Given the description of an element on the screen output the (x, y) to click on. 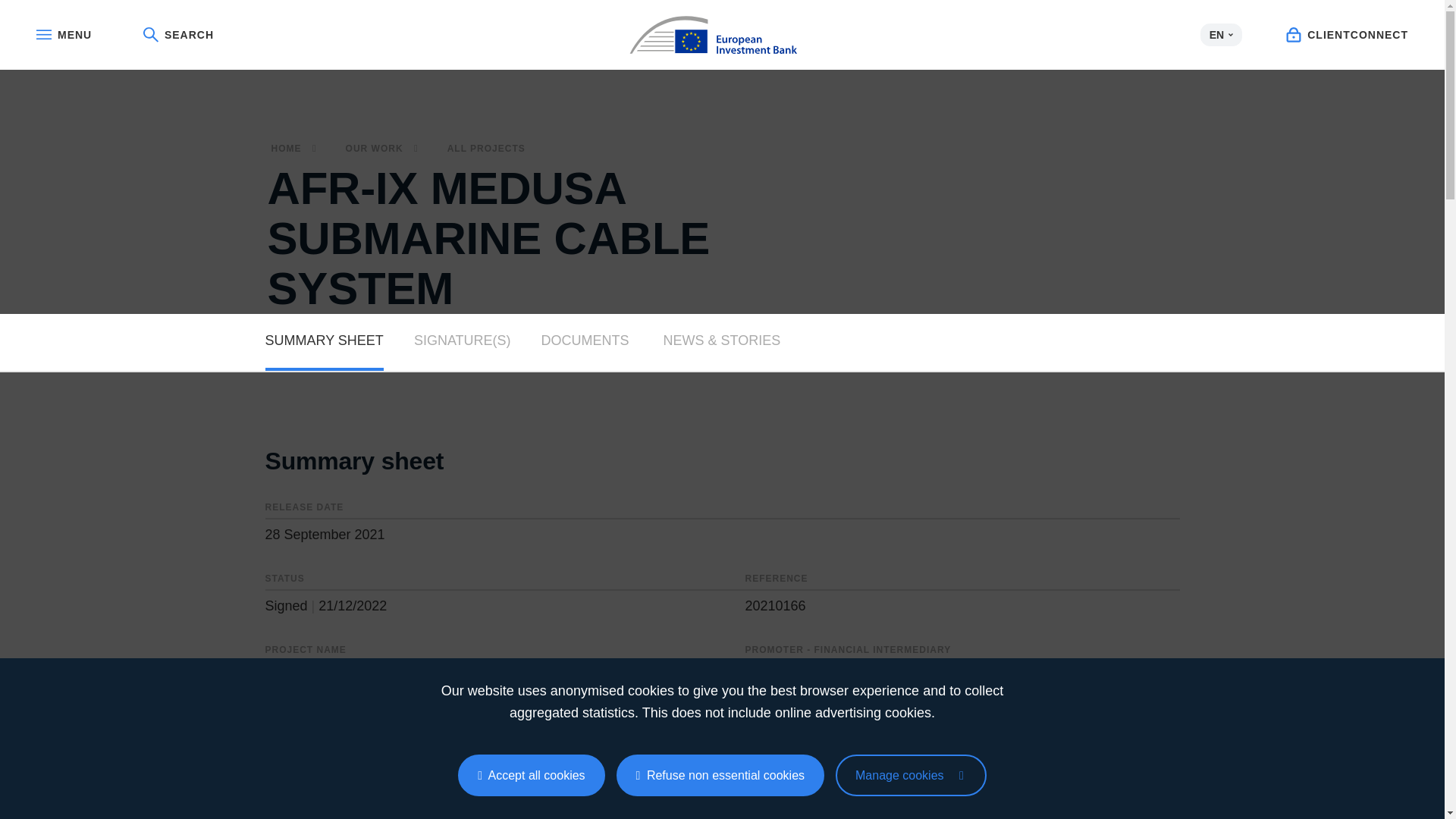
FR (1221, 58)
European Investment Bank (722, 34)
Privacy (911, 775)
MENU (63, 34)
en (722, 31)
SEARCH (178, 34)
CLIENTCONNECT (1346, 34)
en (722, 34)
